Given the description of an element on the screen output the (x, y) to click on. 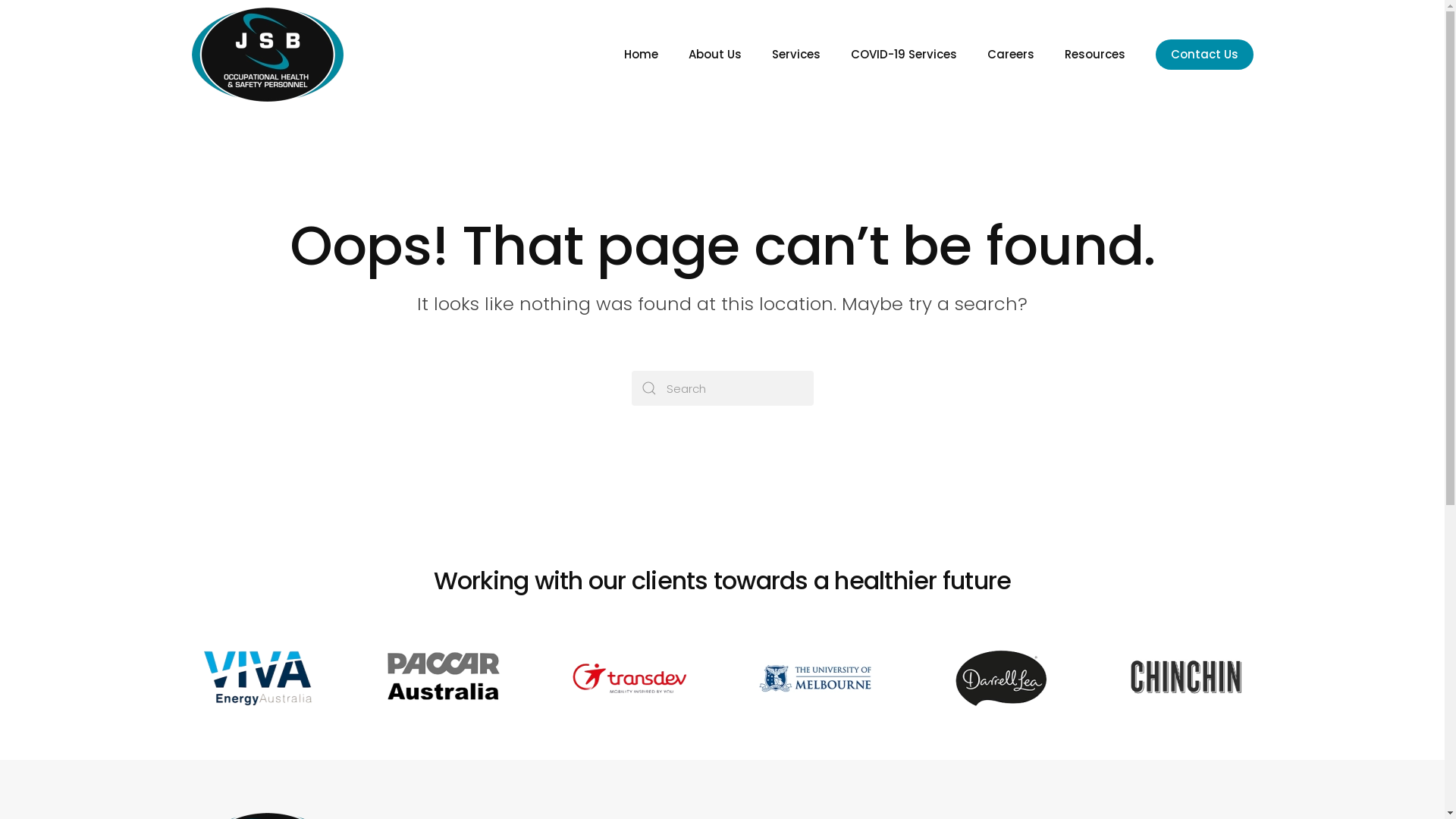
About Us Element type: text (714, 54)
Home Element type: text (640, 54)
Resources Element type: text (1094, 54)
Contact Us Element type: text (1204, 54)
Careers Element type: text (1010, 54)
Services Element type: text (795, 54)
COVID-19 Services Element type: text (903, 54)
